Given the description of an element on the screen output the (x, y) to click on. 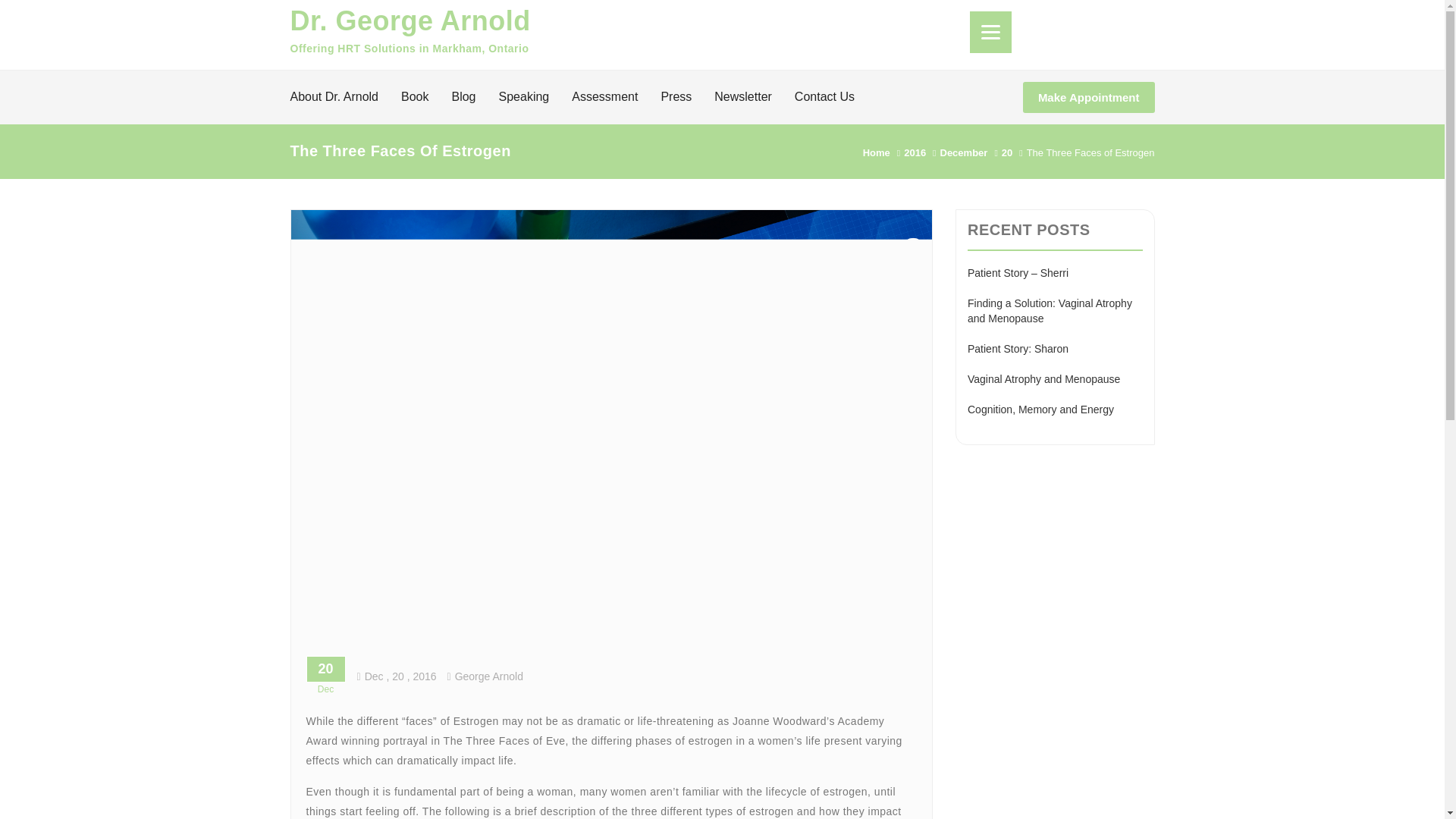
Vaginal Atrophy and Menopause (1043, 378)
About Dr. Arnold (334, 96)
Newsletter (743, 96)
Finding a Solution: Vaginal Atrophy and Menopause (1050, 310)
Make Appointment (1088, 97)
George Arnold (484, 676)
Home (876, 152)
20 (1006, 152)
Patient Story: Sharon (1018, 348)
2016 (915, 152)
